Given the description of an element on the screen output the (x, y) to click on. 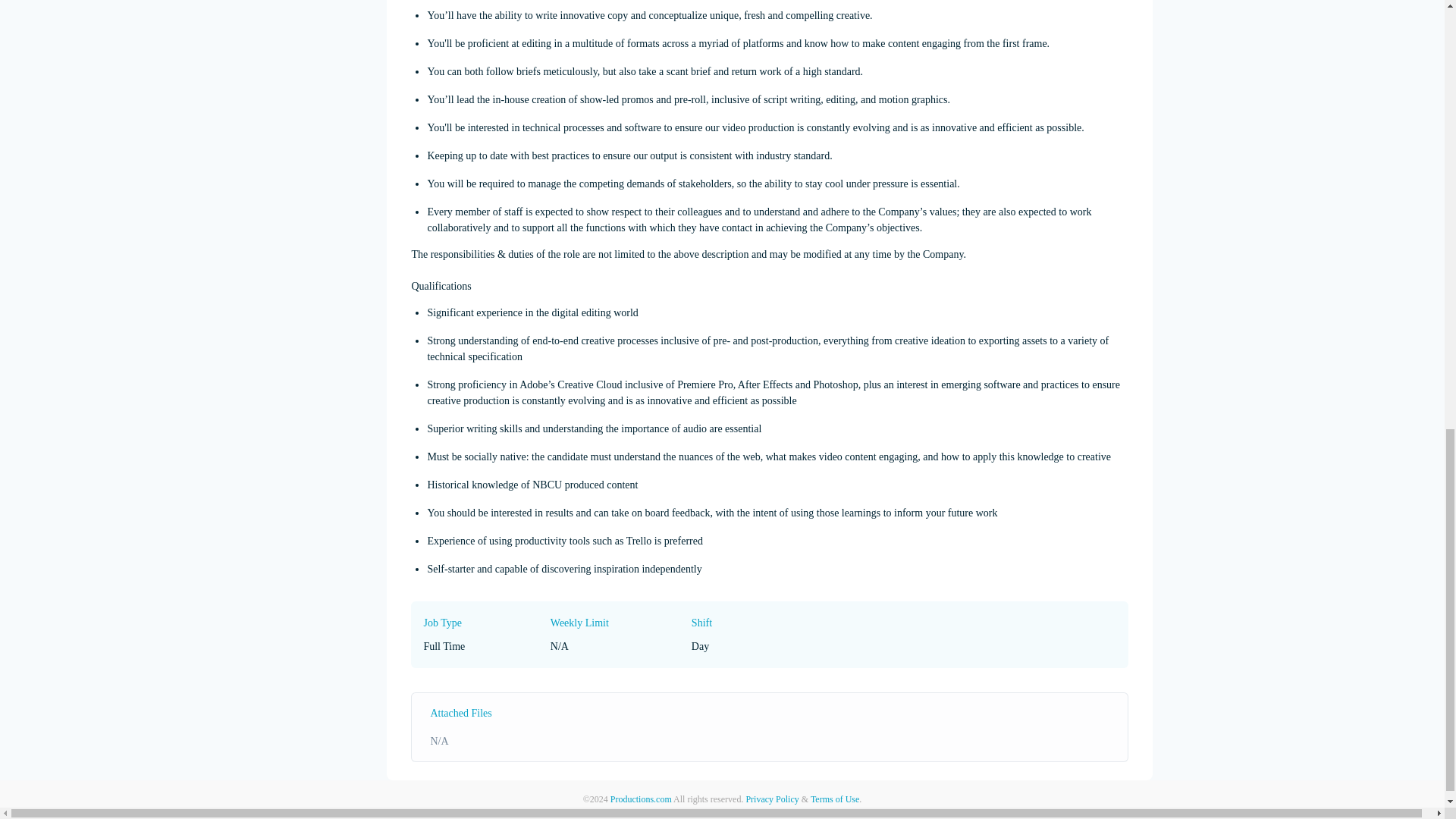
Productions.com (640, 798)
Terms of Use (834, 798)
Privacy Policy (771, 798)
